Given the description of an element on the screen output the (x, y) to click on. 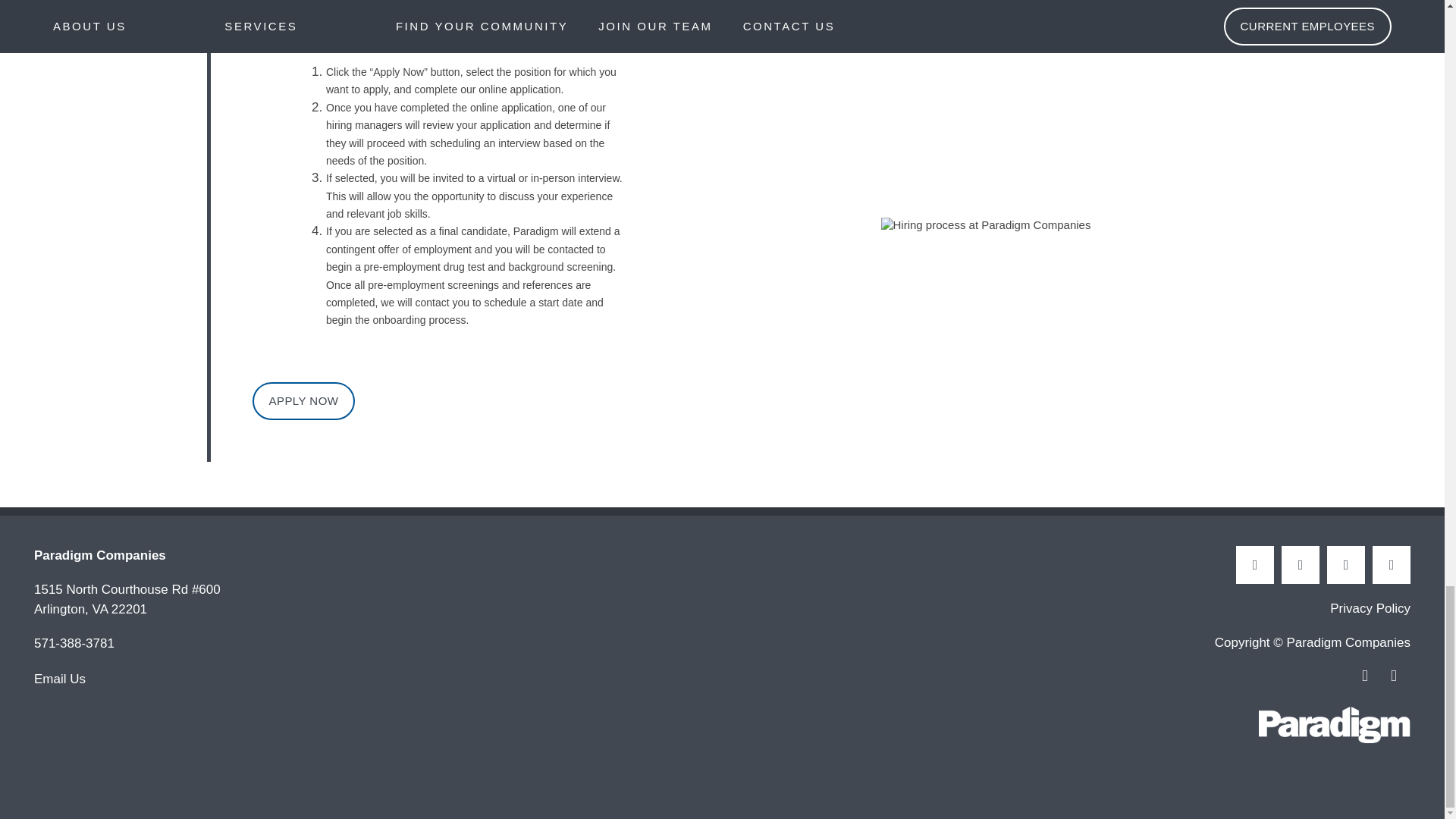
Facebook (1255, 564)
LinkedIn (1300, 564)
Email Us (59, 679)
Handicap Friendly (1398, 677)
Privacy Policy (1370, 608)
APPLY NOW (303, 401)
YouTube (1391, 564)
571-388-3781 (74, 645)
Equal Opportunity Housing (1372, 677)
Property Phone Number (74, 645)
